Given the description of an element on the screen output the (x, y) to click on. 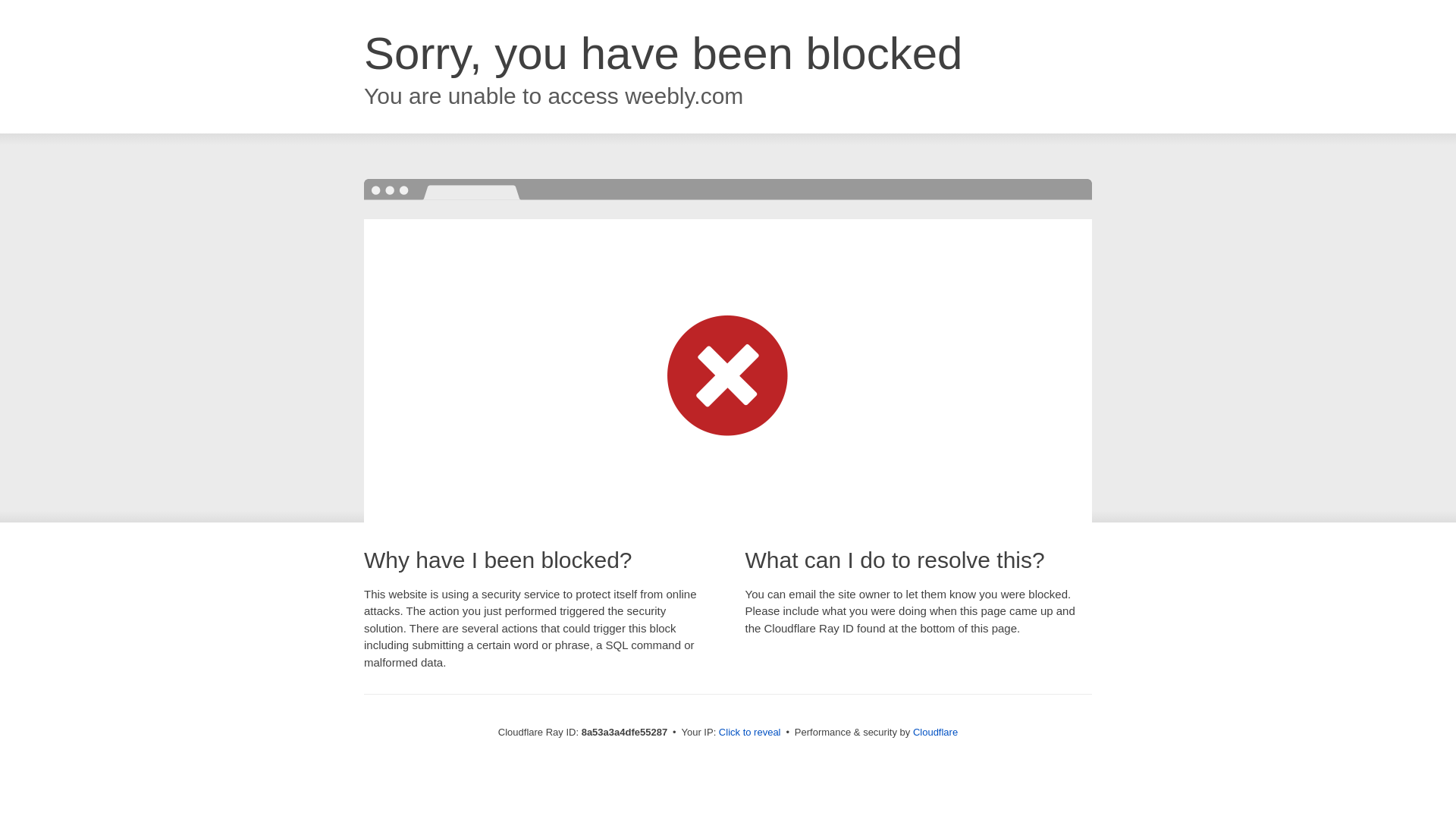
Cloudflare (935, 731)
Click to reveal (749, 732)
